Given the description of an element on the screen output the (x, y) to click on. 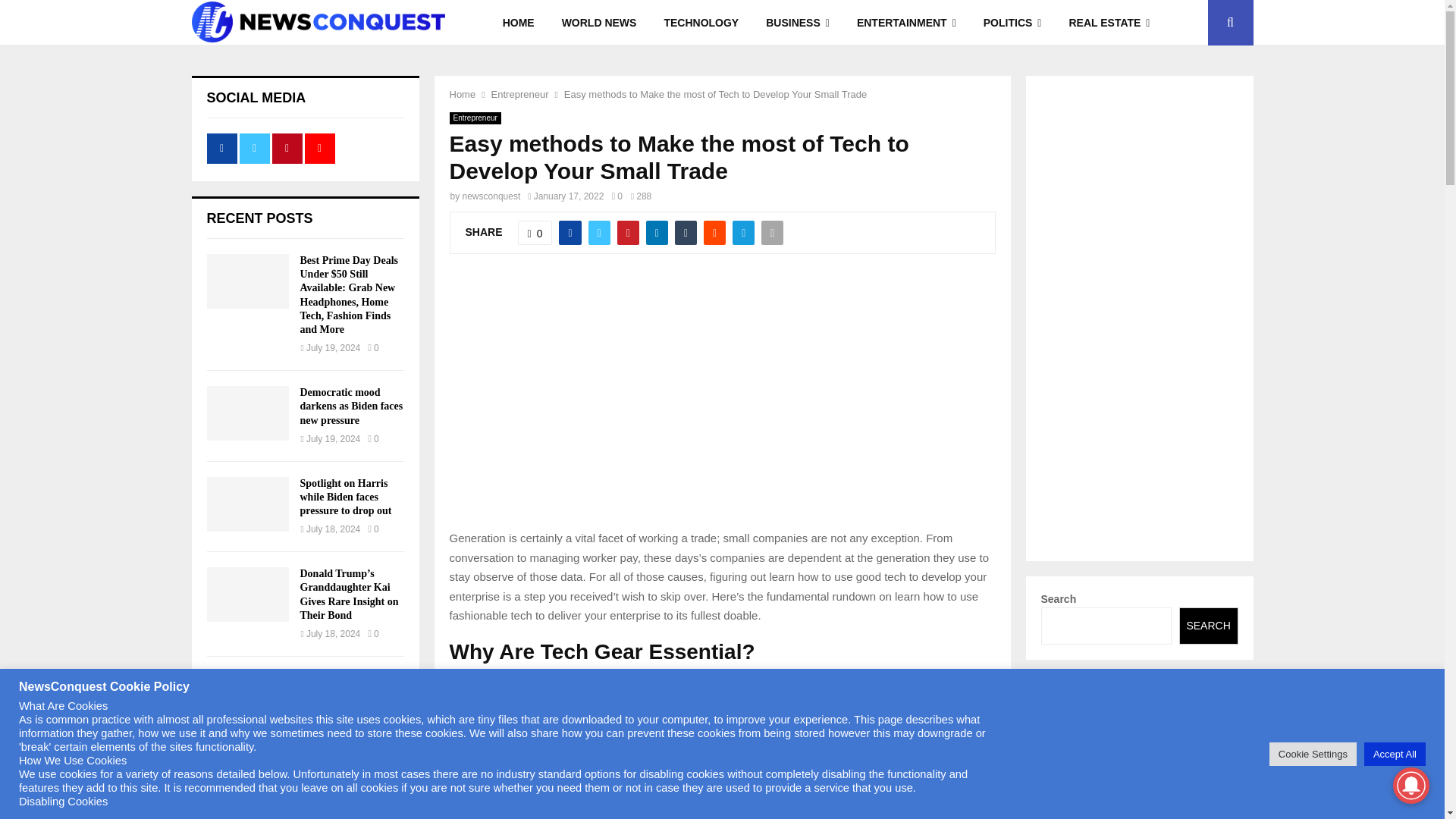
WORLD NEWS (599, 22)
BUSINESS (797, 22)
ENTERTAINMENT (906, 22)
TECHNOLOGY (700, 22)
HOME (518, 22)
